Given the description of an element on the screen output the (x, y) to click on. 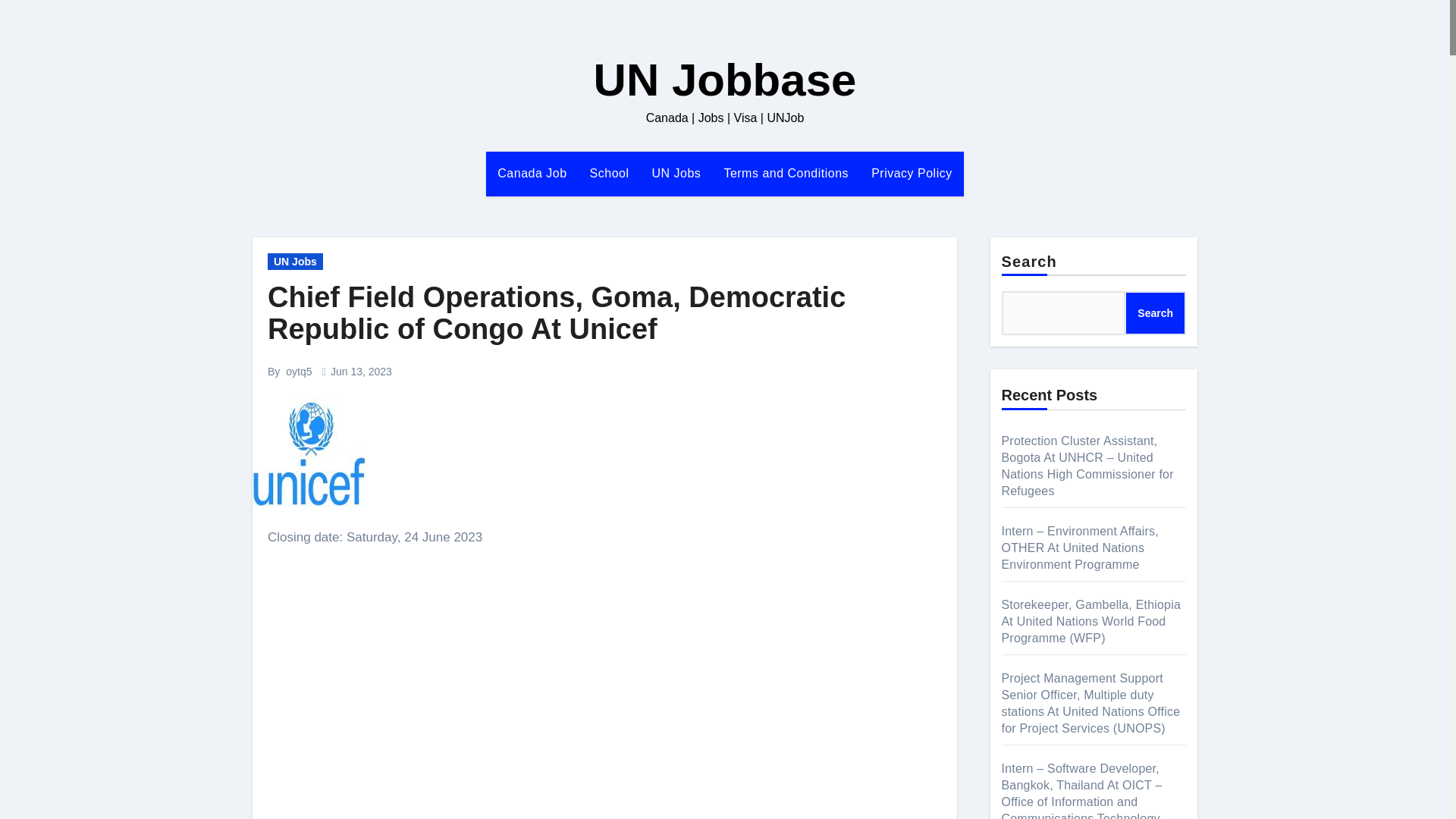
School (609, 173)
UN Jobbase (725, 79)
UN Jobs (295, 261)
Privacy Policy (911, 173)
Privacy Policy (911, 173)
UN Jobs (676, 173)
School (609, 173)
Terms and Conditions (785, 173)
Canada Job (532, 173)
UN Jobs (676, 173)
Canada Job (532, 173)
Terms and Conditions (785, 173)
oytq5 (298, 371)
